Given the description of an element on the screen output the (x, y) to click on. 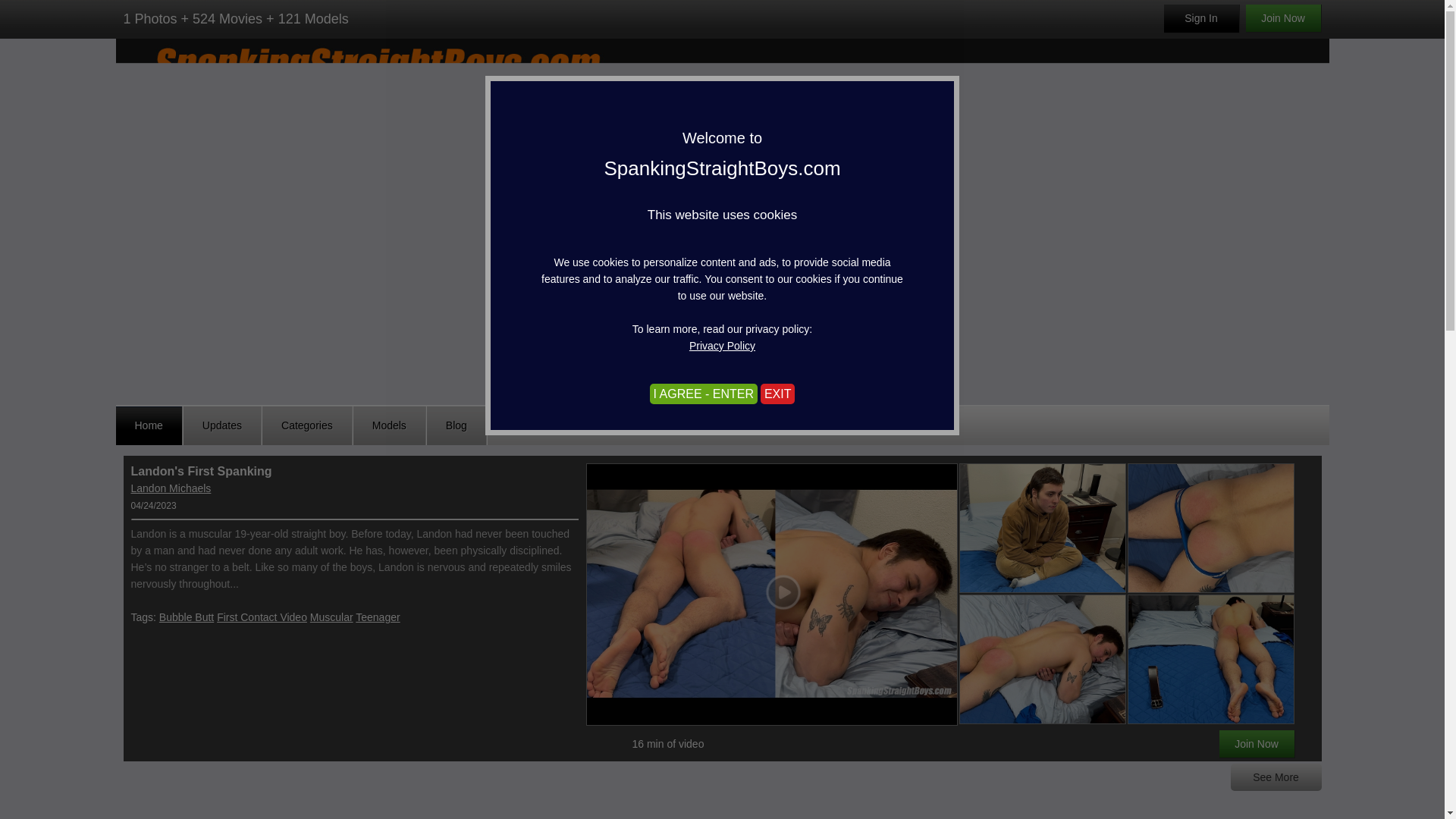
Home (148, 425)
Landon Michaels (171, 488)
First Contact Video (261, 616)
I AGREE - ENTER (775, 360)
Models (389, 425)
Updates (222, 425)
EXIT (777, 394)
I AGREE - ENTER (703, 394)
Categories (307, 425)
Privacy Policy (721, 345)
Bubble Butt (186, 616)
Teenager (376, 616)
Blog (456, 425)
Muscular (331, 616)
EXIT (586, 360)
